Given the description of an element on the screen output the (x, y) to click on. 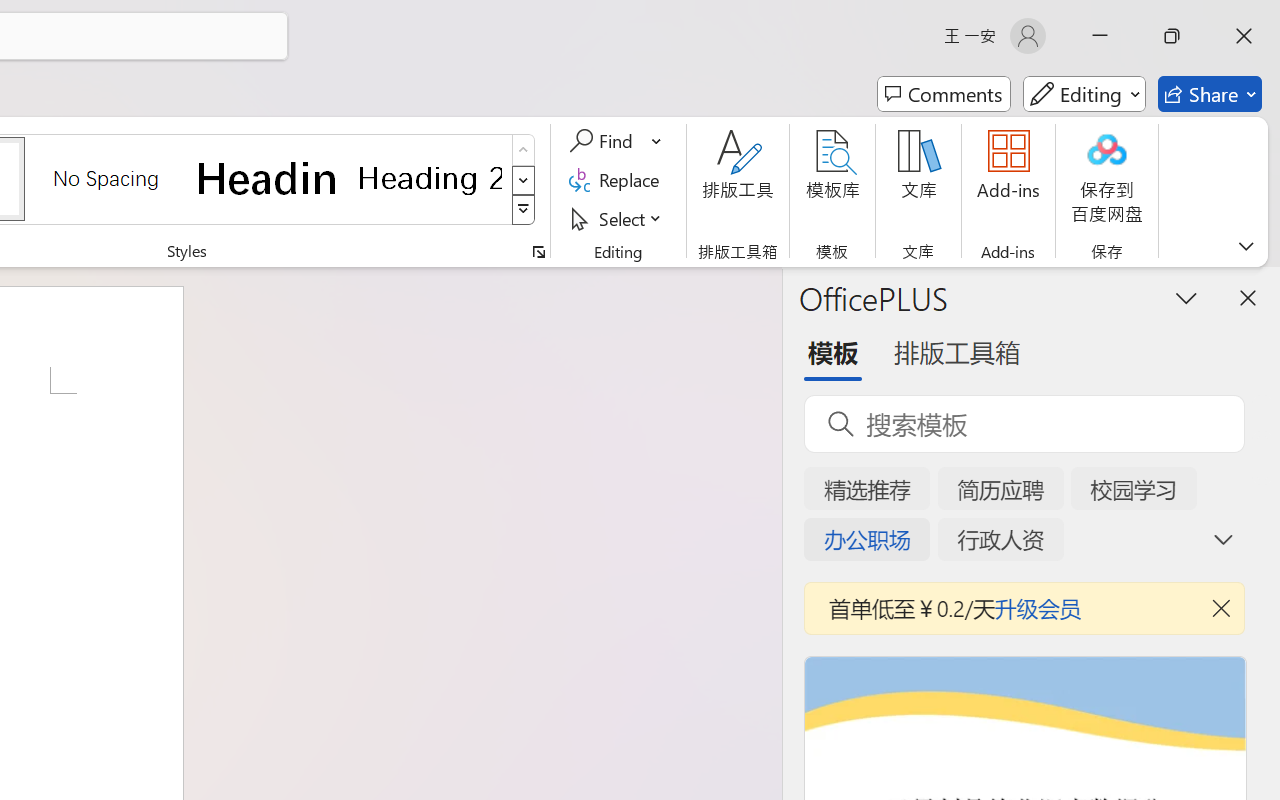
Find (616, 141)
Share (1210, 94)
Styles... (538, 252)
Ribbon Display Options (1246, 245)
Restore Down (1172, 36)
